Given the description of an element on the screen output the (x, y) to click on. 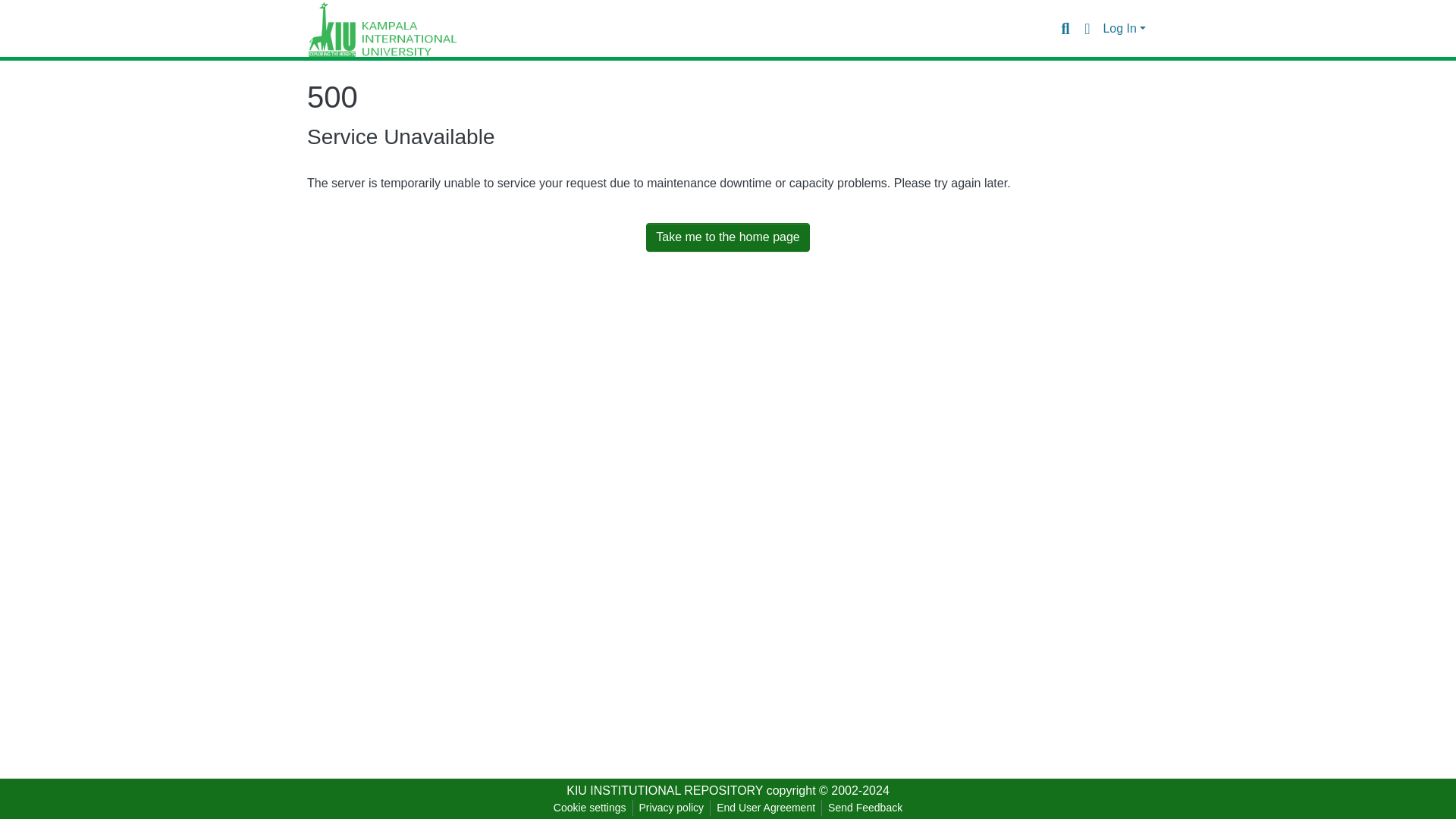
End User Agreement (765, 807)
Cookie settings (589, 807)
Send Feedback (865, 807)
Privacy policy (671, 807)
Language switch (1086, 28)
KIU INSTITUTIONAL REPOSITORY (664, 789)
Log In (1123, 28)
Search (1064, 28)
Take me to the home page (727, 236)
